Given the description of an element on the screen output the (x, y) to click on. 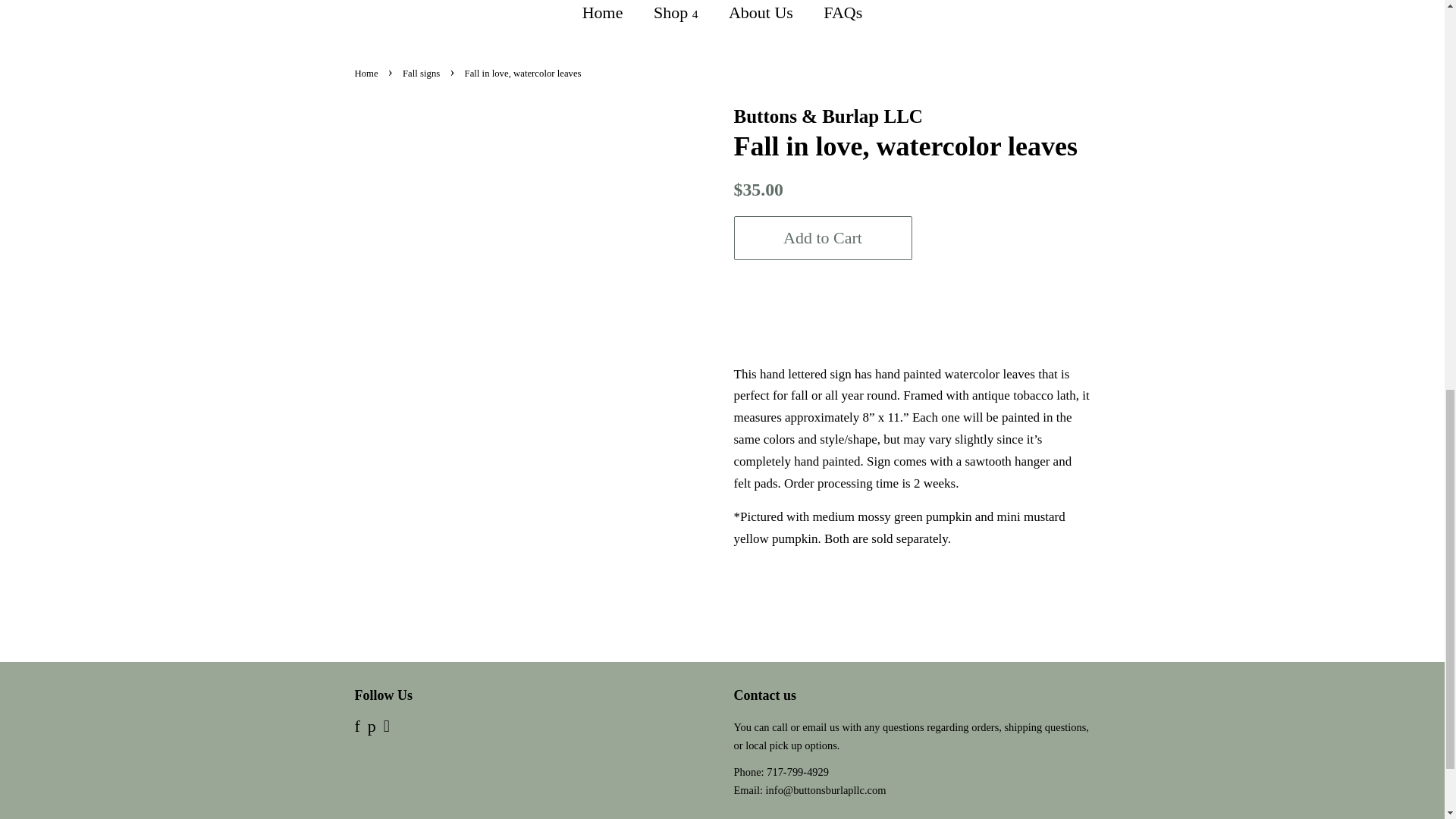
Back to the frontpage (368, 72)
Shop (677, 15)
Home (610, 15)
